Given the description of an element on the screen output the (x, y) to click on. 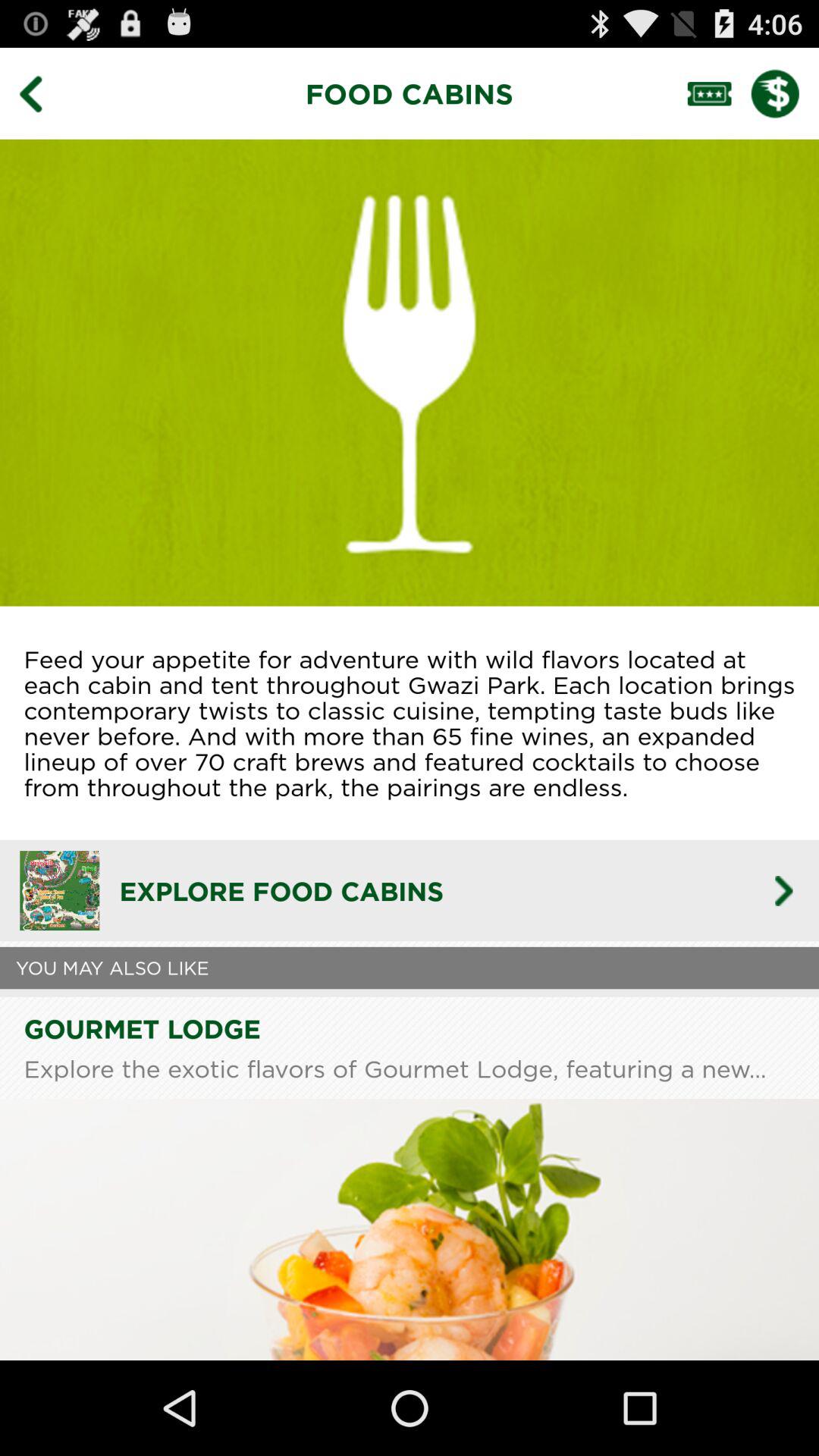
go to checkout (785, 93)
